Given the description of an element on the screen output the (x, y) to click on. 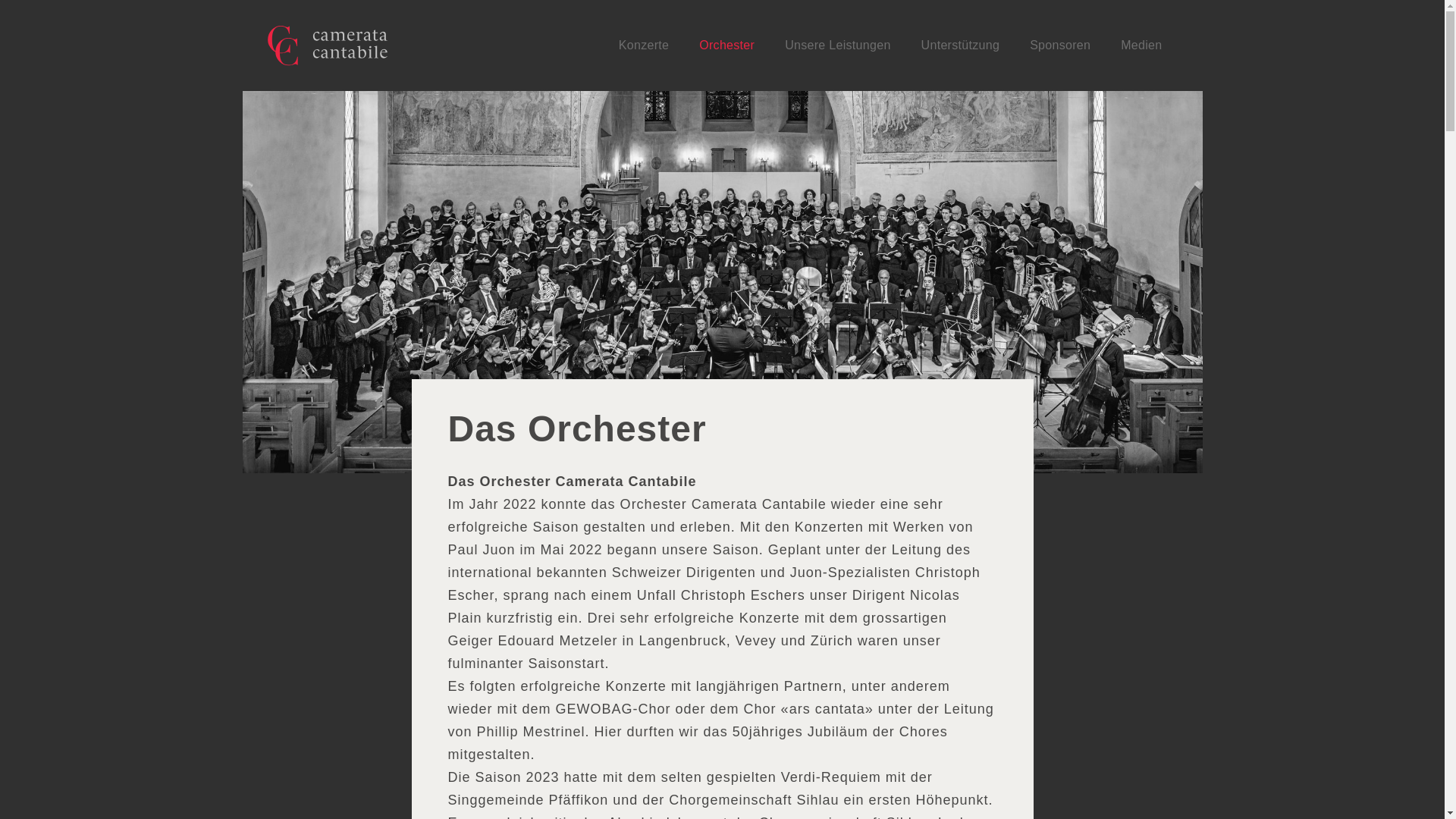
Unsere Leistungen Element type: text (837, 45)
Sponsoren Element type: text (1059, 45)
Konzerte Element type: text (643, 45)
Medien Element type: text (1140, 45)
Orchester Element type: text (726, 45)
